Given the description of an element on the screen output the (x, y) to click on. 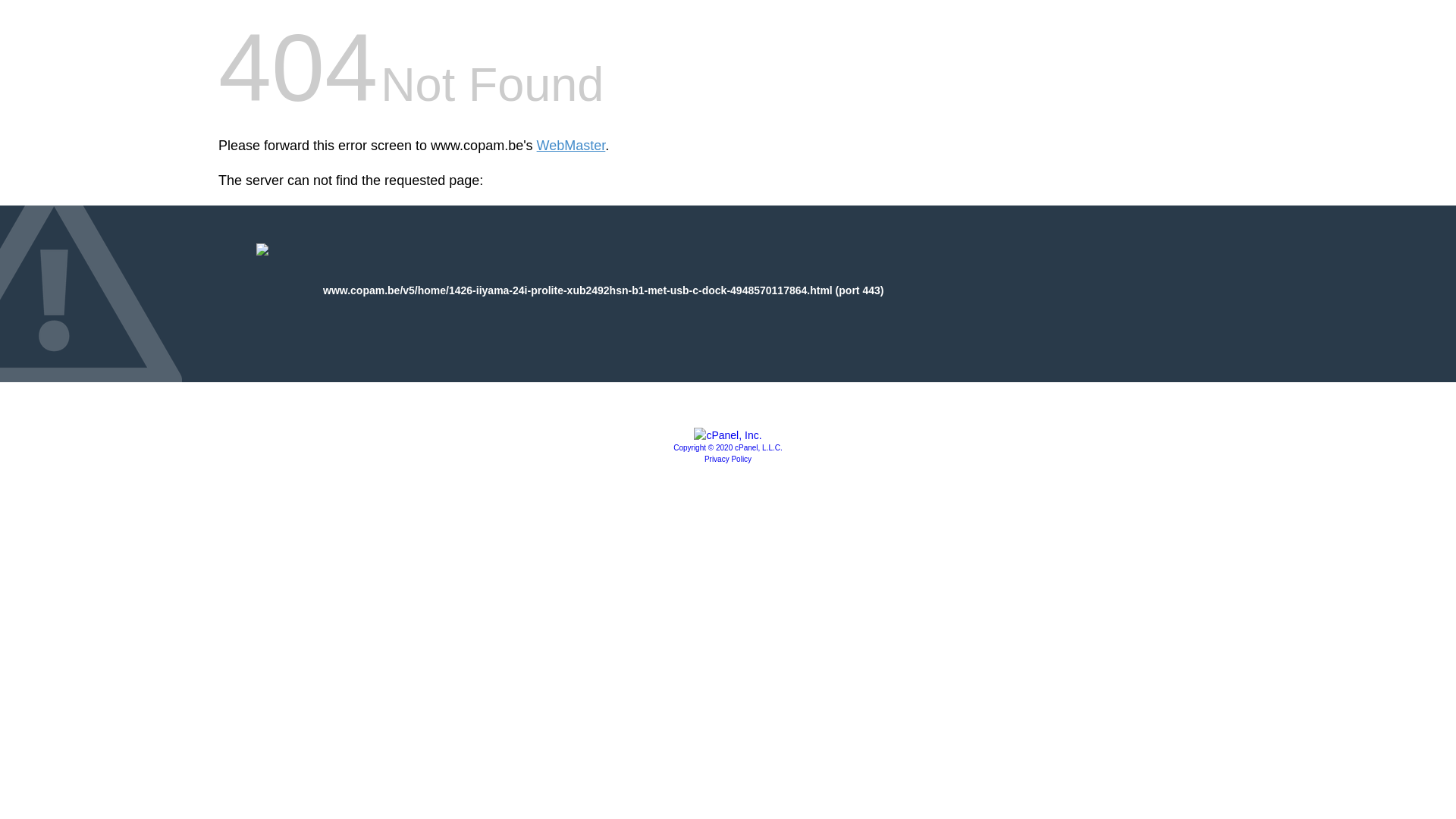
Privacy Policy Element type: text (727, 459)
cPanel, Inc. Element type: hover (727, 435)
WebMaster Element type: text (570, 145)
